Given the description of an element on the screen output the (x, y) to click on. 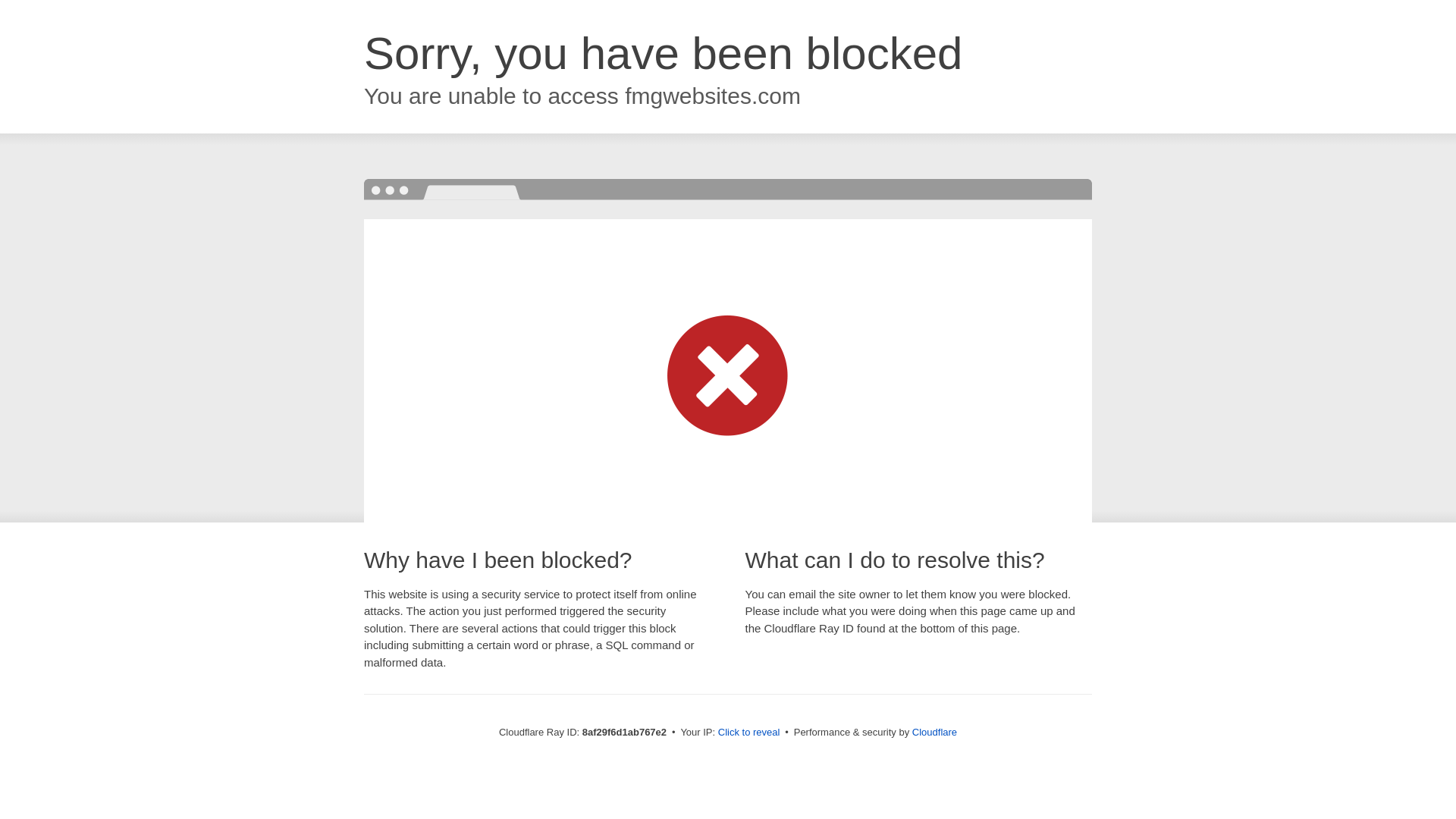
Click to reveal (748, 732)
Cloudflare (934, 731)
